Given the description of an element on the screen output the (x, y) to click on. 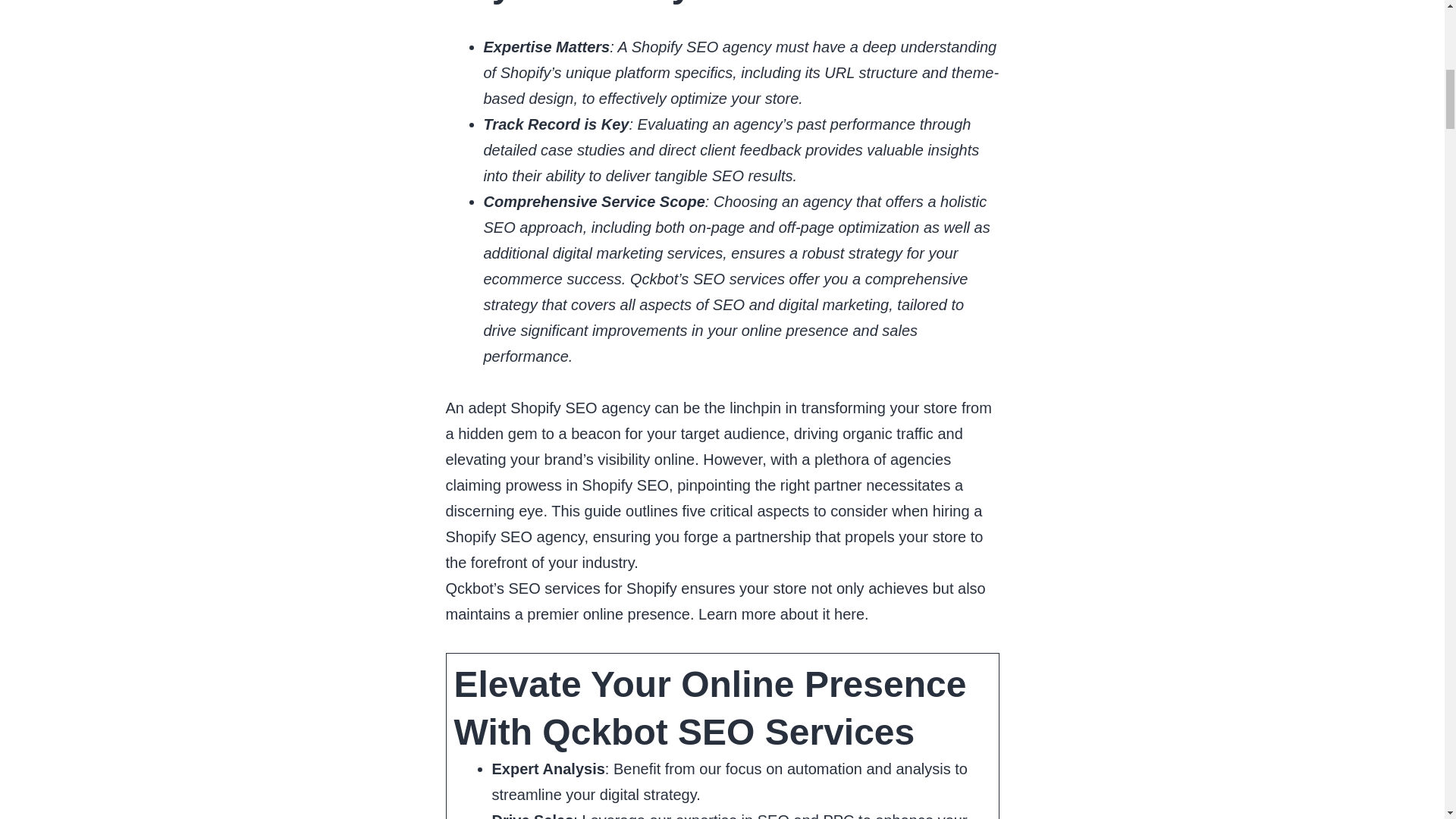
Learn more about it here (781, 614)
all aspects of SEO and digital marketing (754, 304)
